Given the description of an element on the screen output the (x, y) to click on. 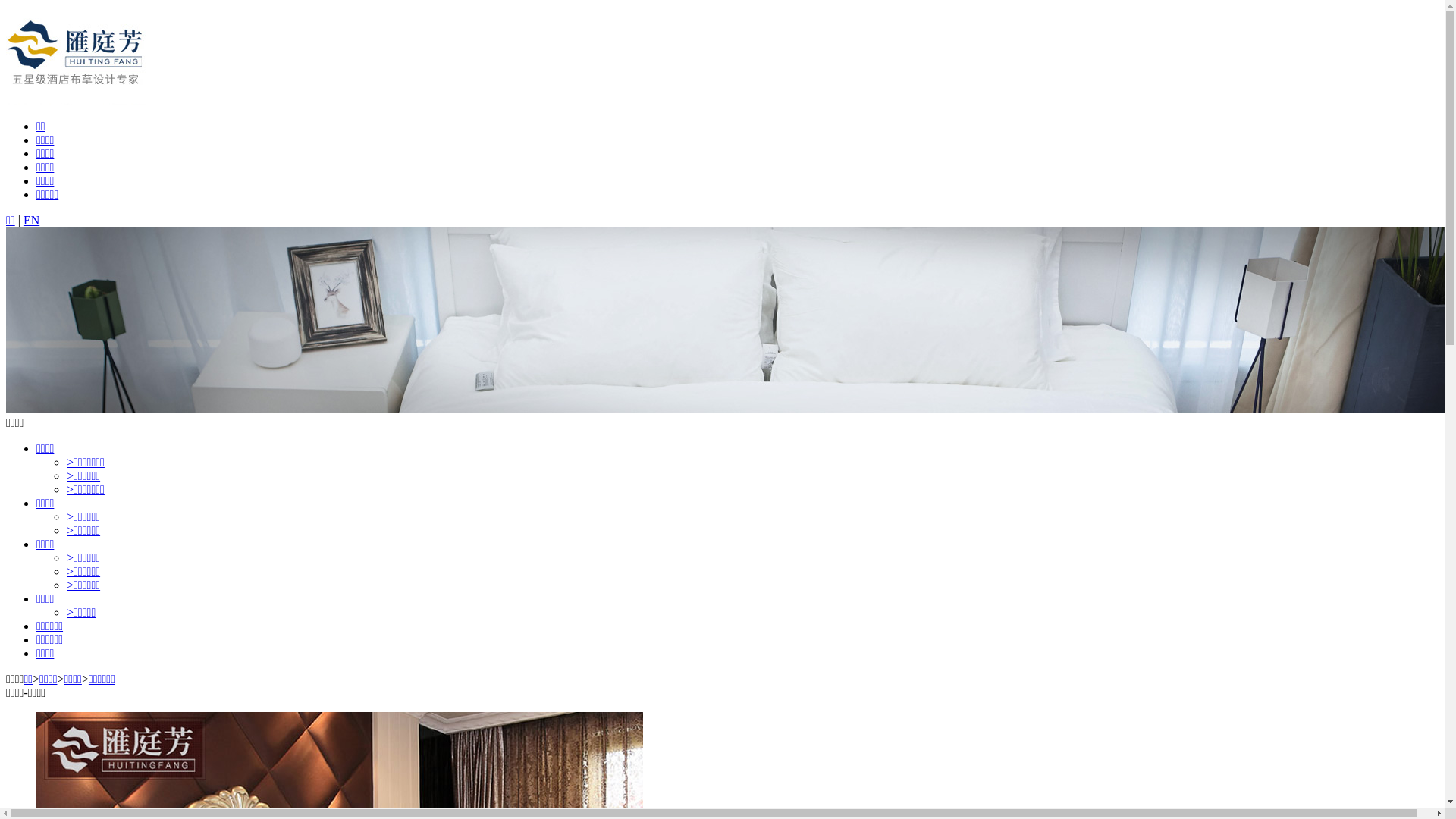
EN Element type: text (31, 219)
